Given the description of an element on the screen output the (x, y) to click on. 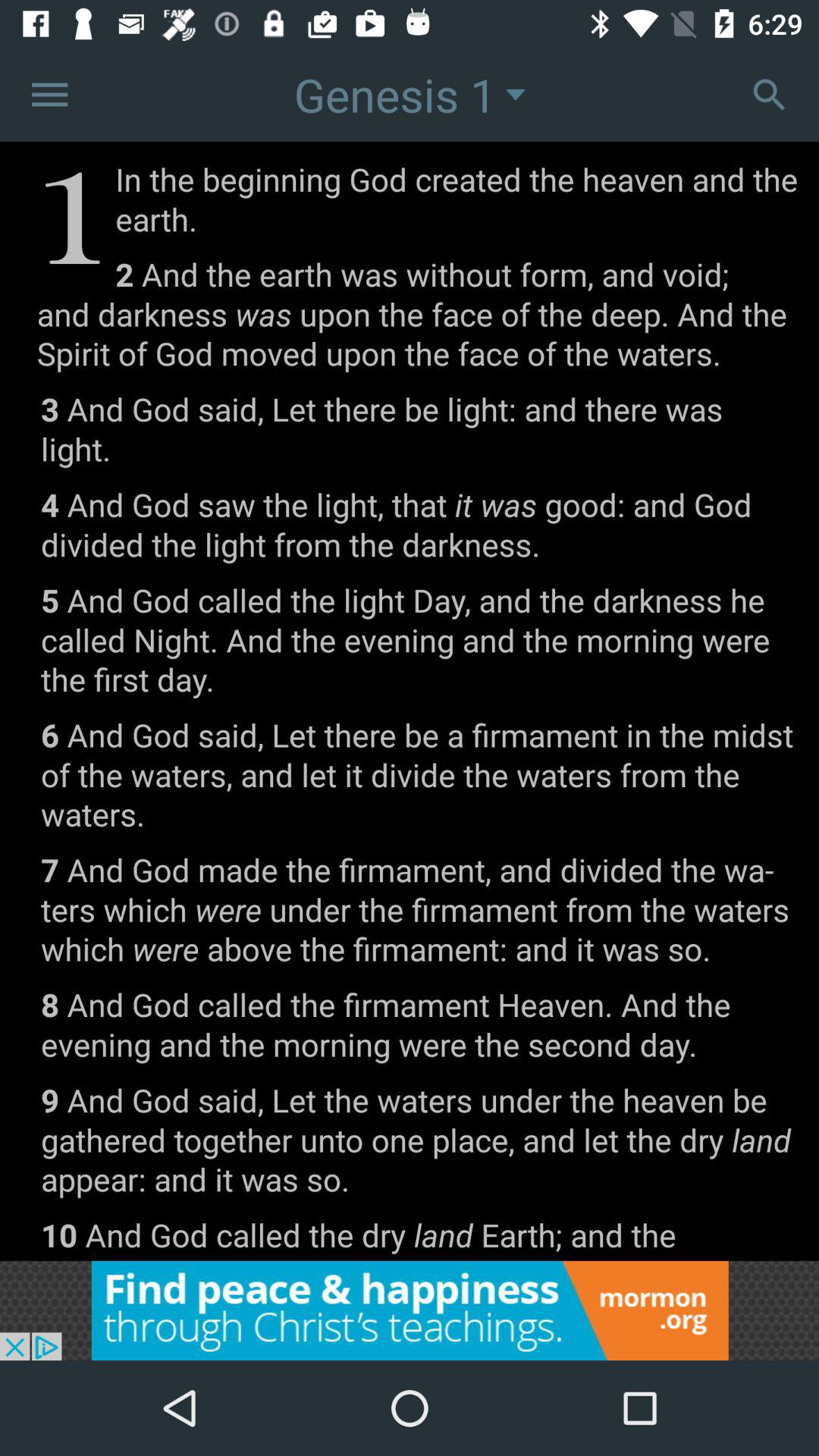
search (769, 94)
